Given the description of an element on the screen output the (x, y) to click on. 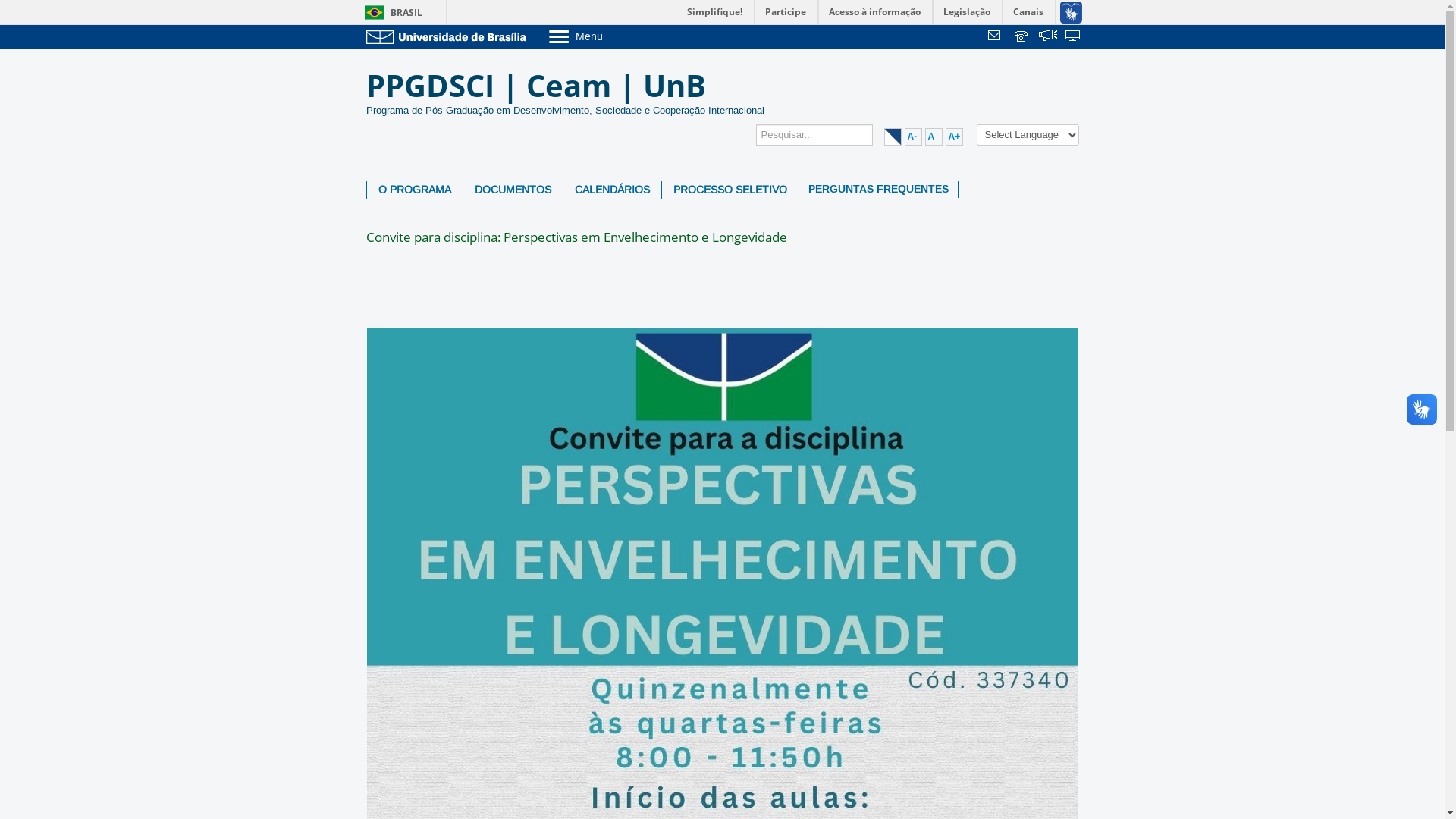
BRASIL Element type: text (389, 12)
Fala.BR Element type: hover (1047, 37)
A Element type: text (933, 136)
  Element type: text (1073, 37)
  Element type: text (1022, 37)
PERGUNTAS FREQUENTES Element type: text (878, 189)
A+ Element type: text (953, 136)
Sistemas Element type: hover (1073, 37)
  Element type: text (996, 37)
  Element type: text (1047, 37)
Ir para o Portal da UnB Element type: hover (448, 36)
A- Element type: text (912, 136)
Webmail Element type: hover (996, 37)
Menu Element type: text (613, 35)
Telefones da UnB Element type: hover (1022, 37)
